Given the description of an element on the screen output the (x, y) to click on. 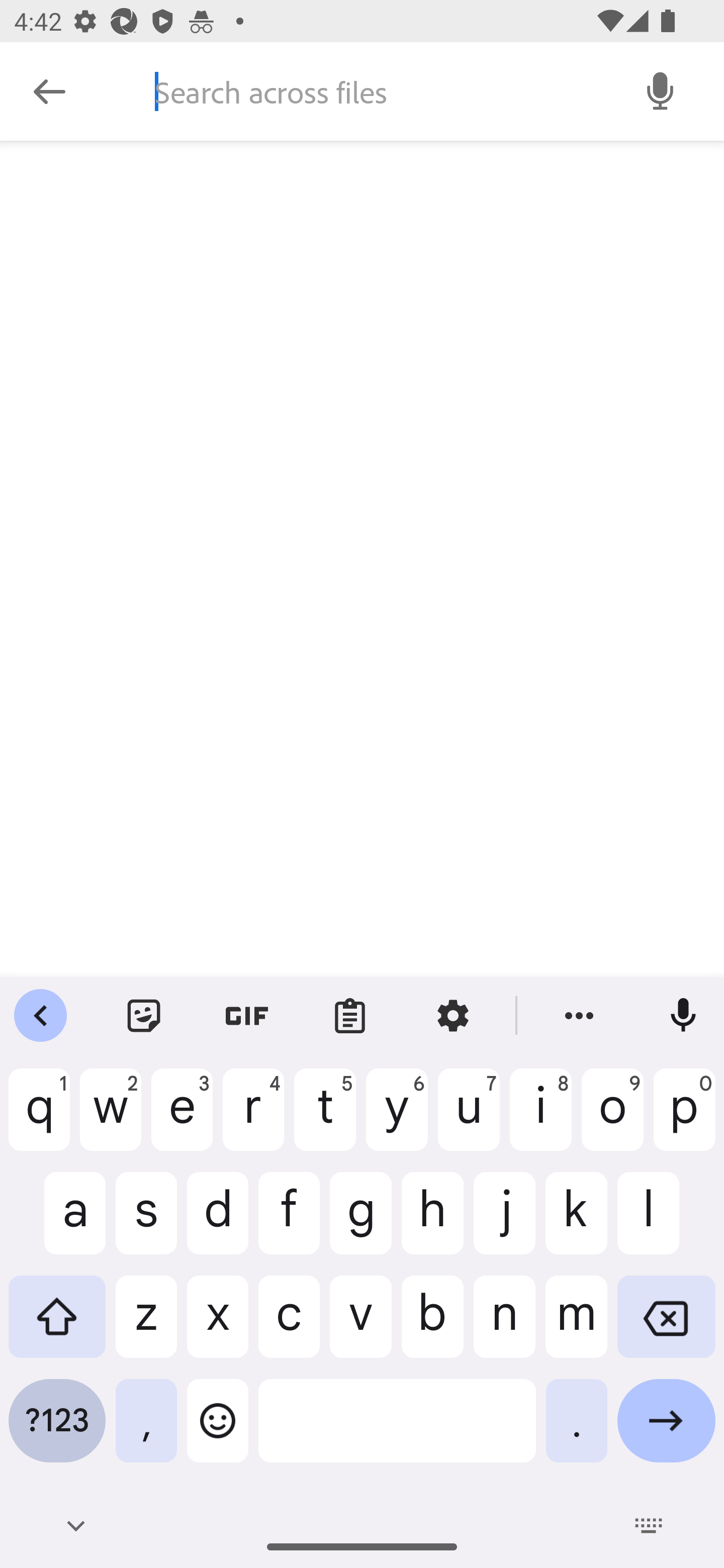
Navigate up (49, 91)
Voice search (660, 90)
Search across files (375, 91)
